Given the description of an element on the screen output the (x, y) to click on. 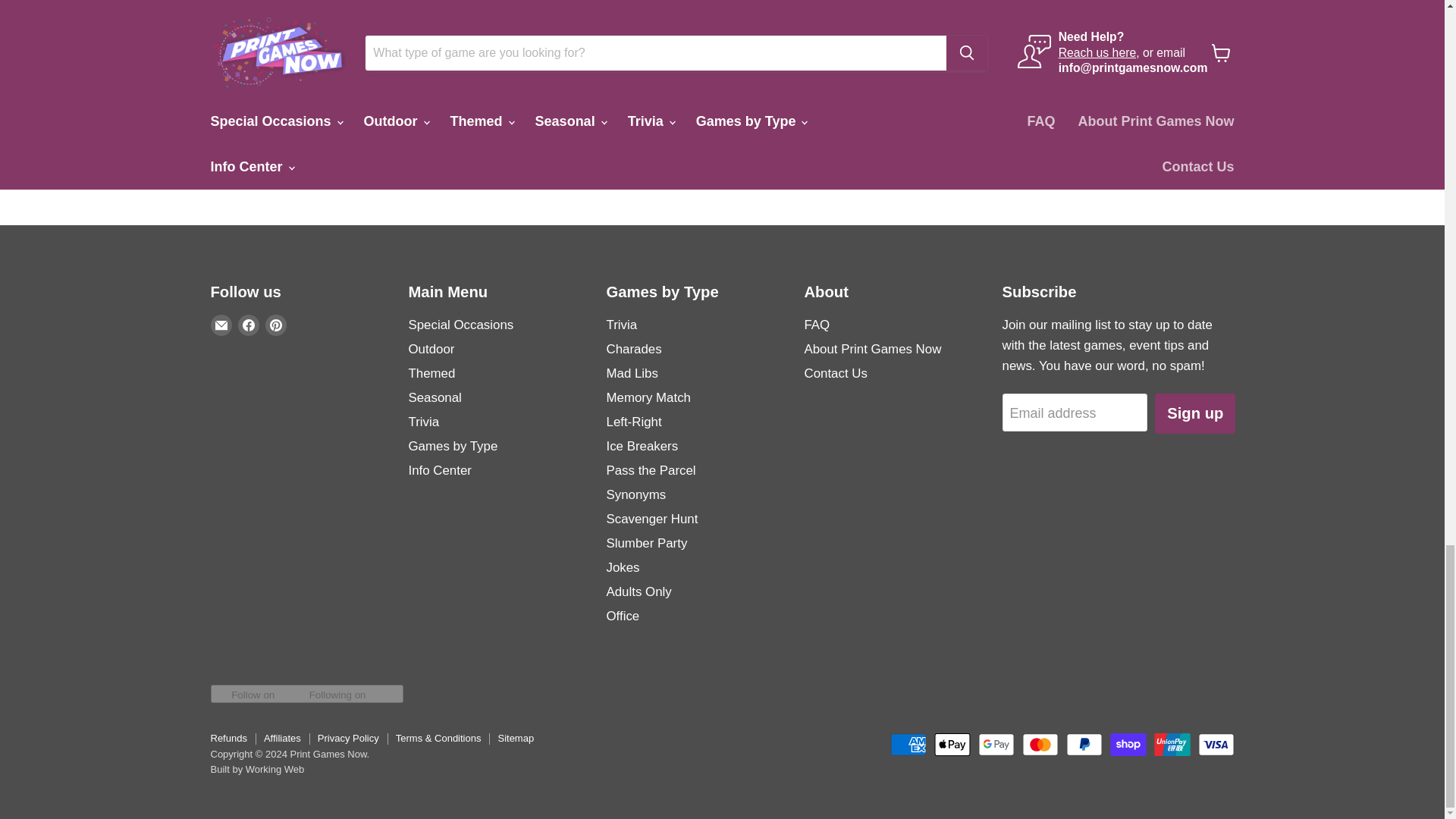
American Express (907, 744)
Email (221, 324)
Facebook (248, 324)
Print Games Now (473, 65)
Print Games Now (682, 65)
Pinterest (275, 324)
Print Games Now (1097, 65)
Print Games Now (889, 65)
Print Games Now (265, 65)
